Given the description of an element on the screen output the (x, y) to click on. 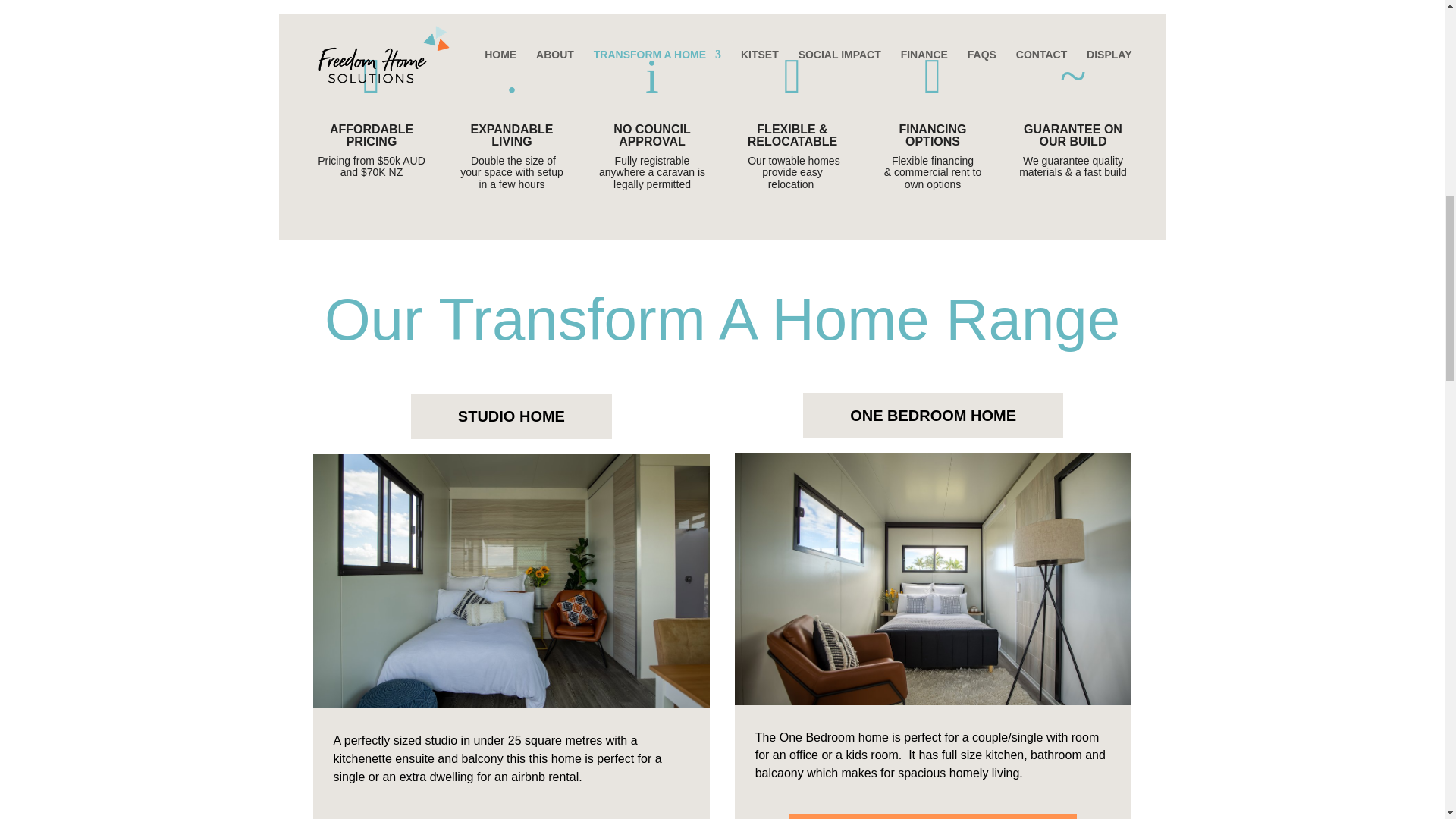
ONE BEDROOM HOME (932, 415)
STUDIO HOME (510, 415)
VIEW THE ONE BEDROOM HOME (933, 816)
